Given the description of an element on the screen output the (x, y) to click on. 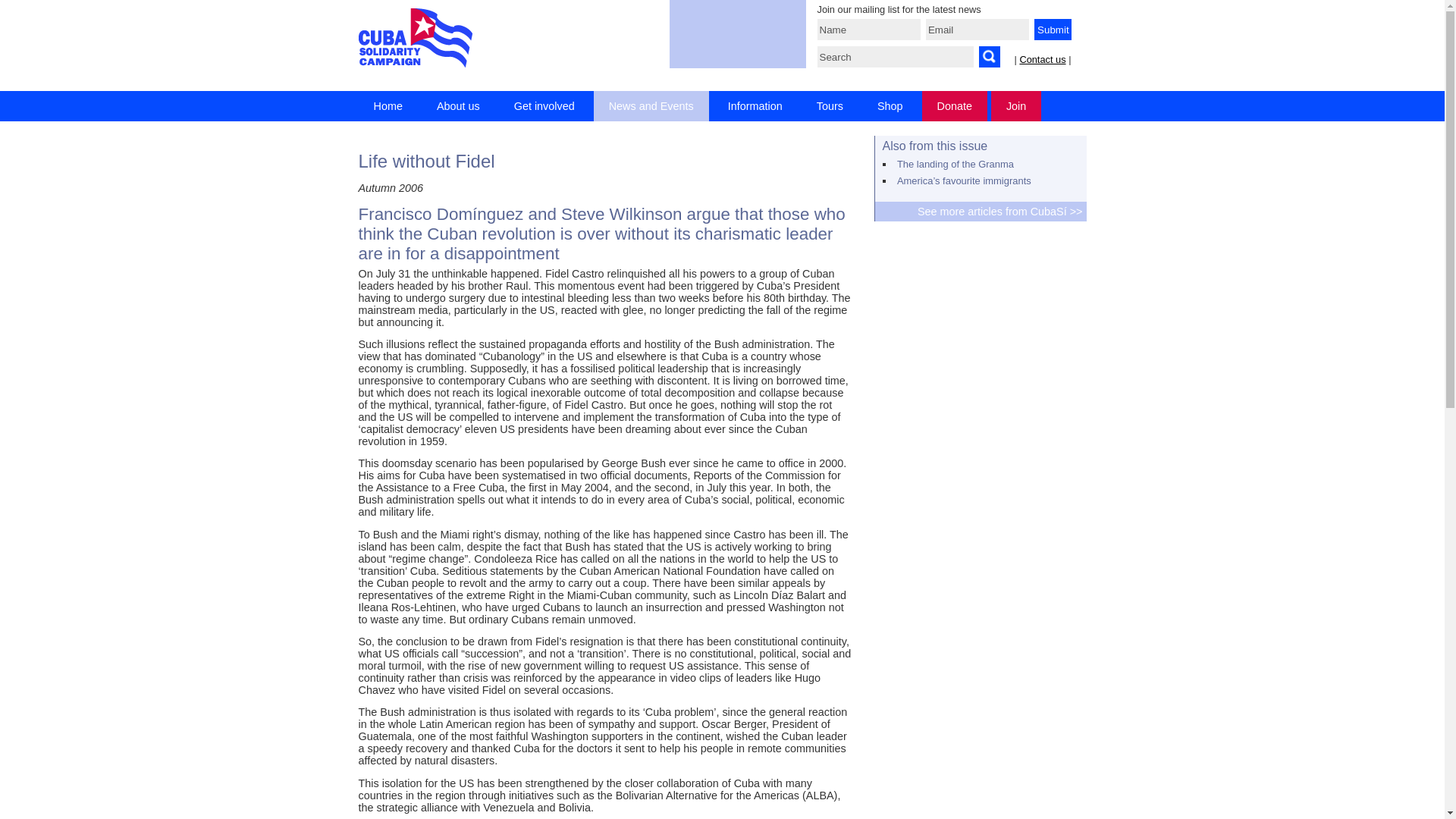
Home (387, 105)
Name (868, 29)
News and Events (651, 105)
Get involved (544, 105)
Cuba Solidarity Campaign, Great Britain (414, 37)
Donate (954, 105)
Shop (889, 105)
About us (458, 105)
Search (895, 56)
